Given the description of an element on the screen output the (x, y) to click on. 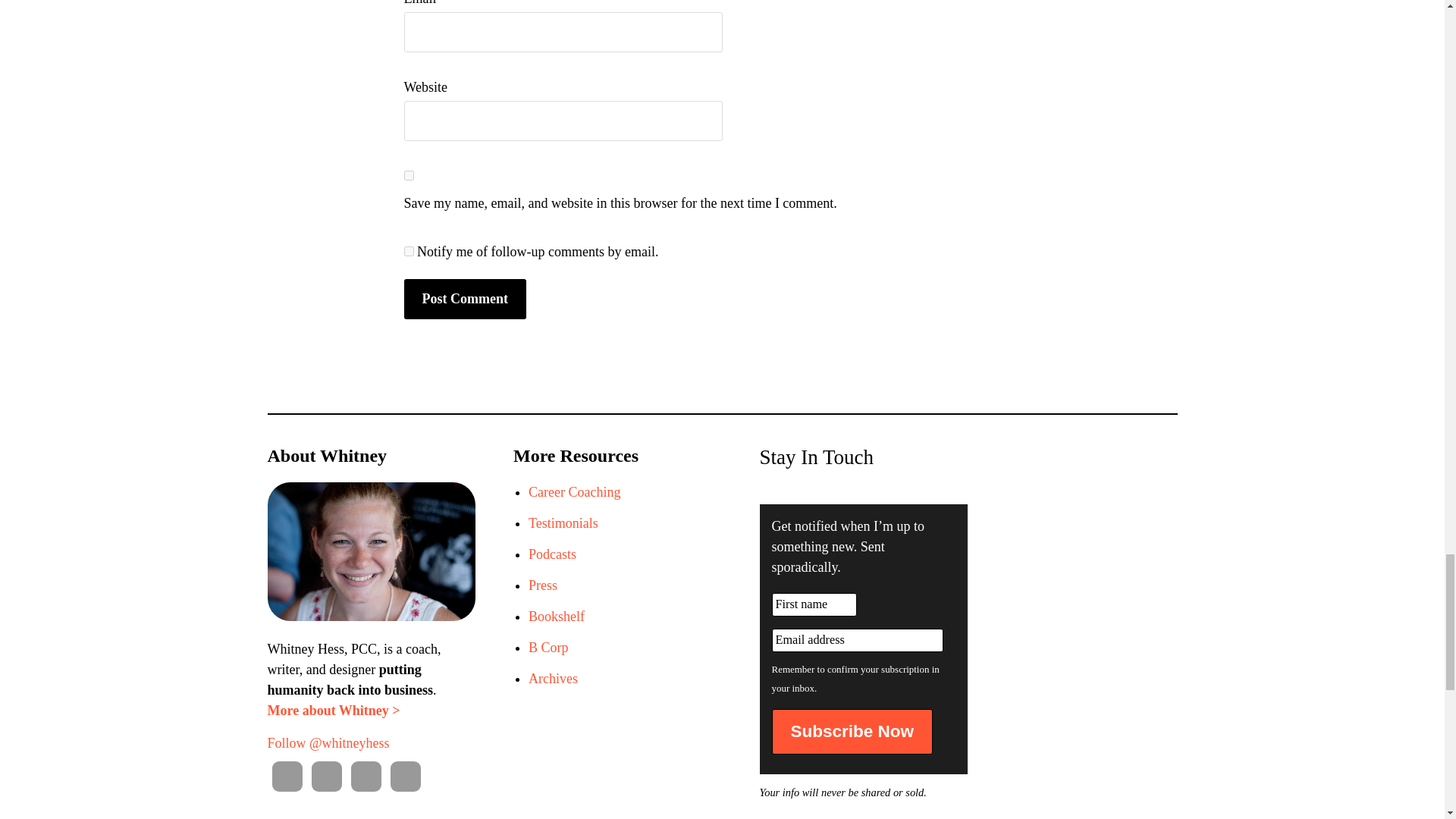
Post Comment (464, 299)
yes (408, 175)
Post Comment (464, 299)
subscribe (408, 251)
Subscribe Now (852, 731)
